Given the description of an element on the screen output the (x, y) to click on. 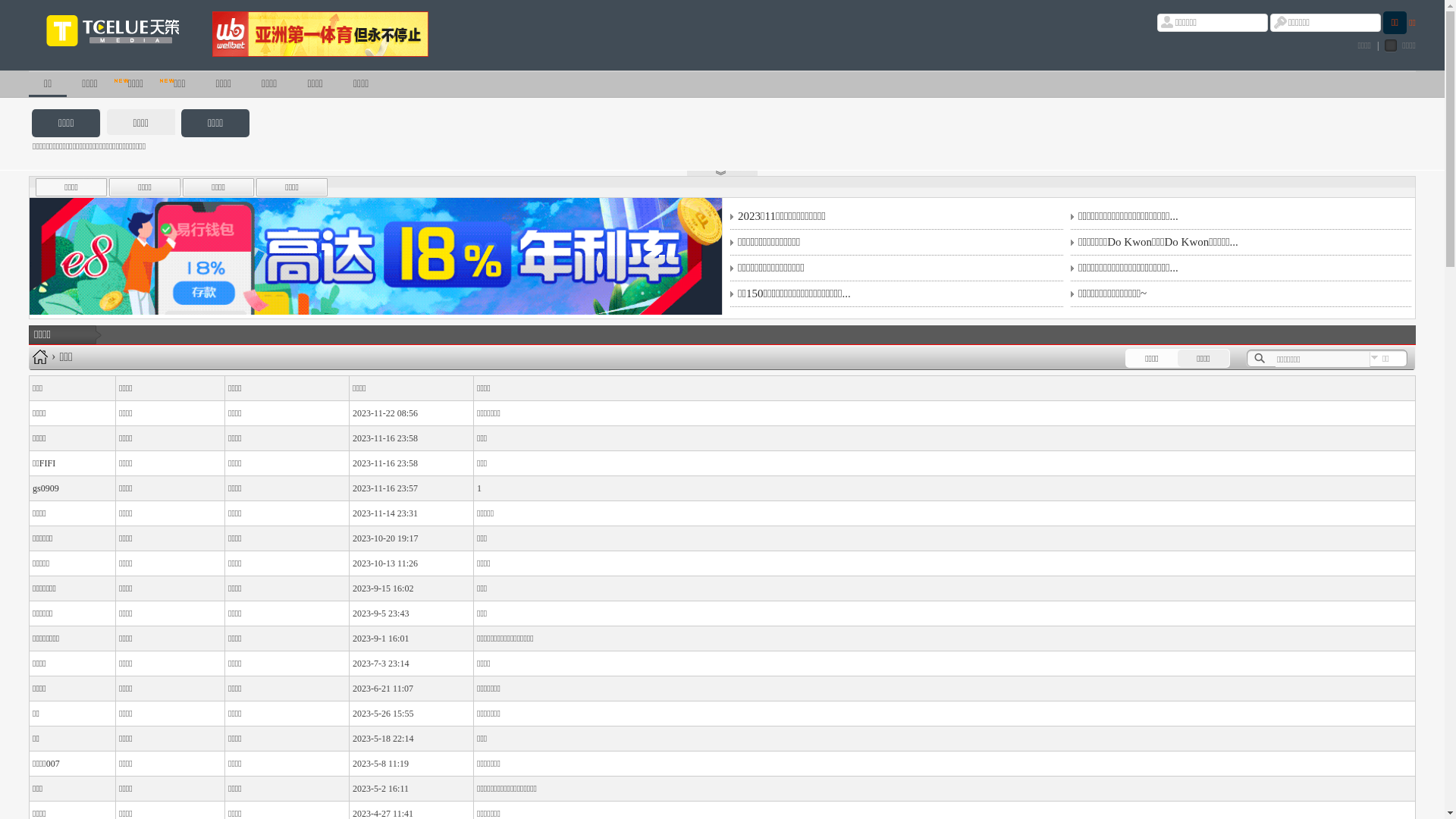
gs0909 Element type: text (45, 488)
